Given the description of an element on the screen output the (x, y) to click on. 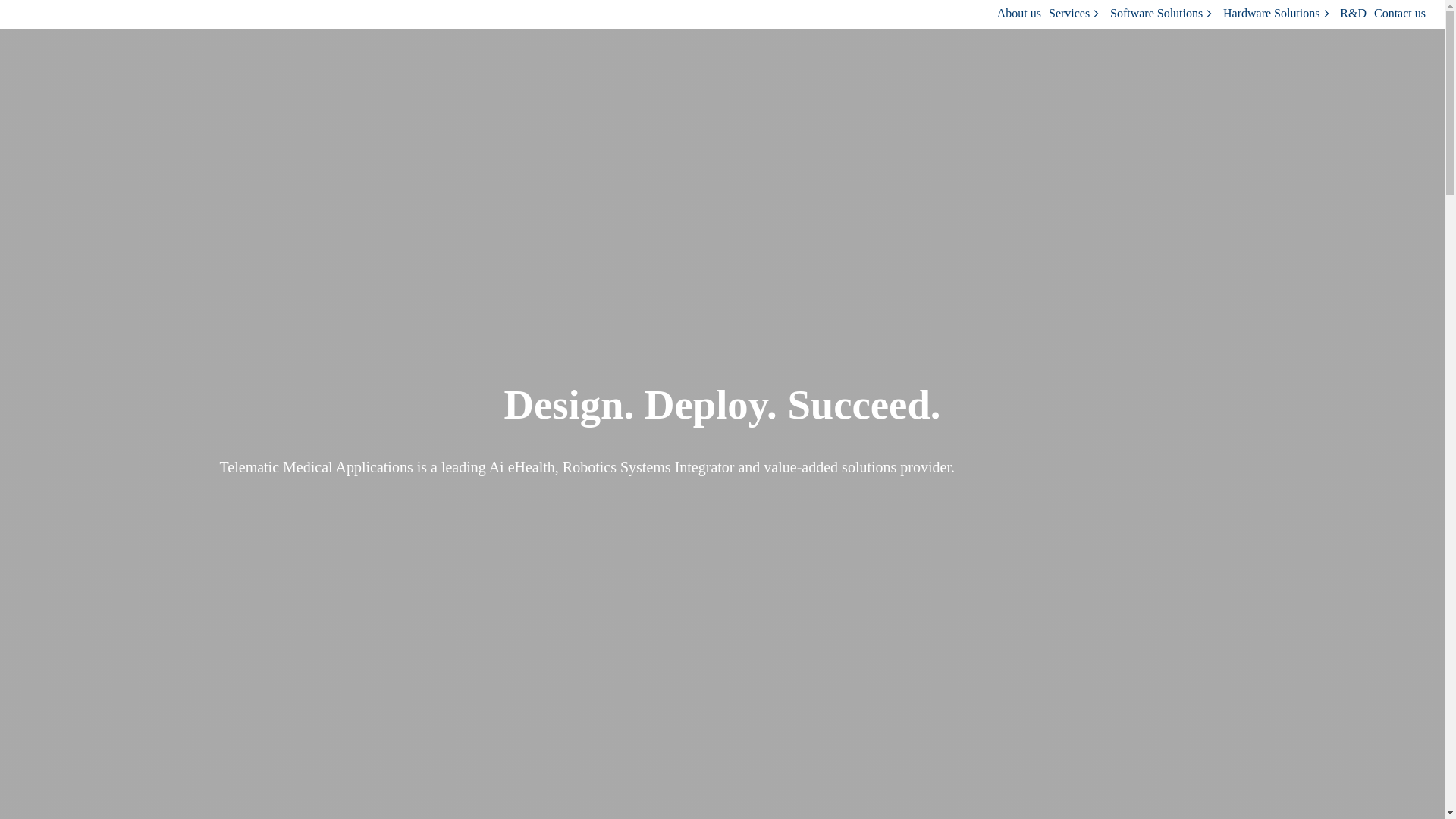
Services (1075, 14)
Hardware Solutions (1278, 14)
Contact us (1399, 14)
Software Solutions (1163, 14)
About us (1018, 14)
